Given the description of an element on the screen output the (x, y) to click on. 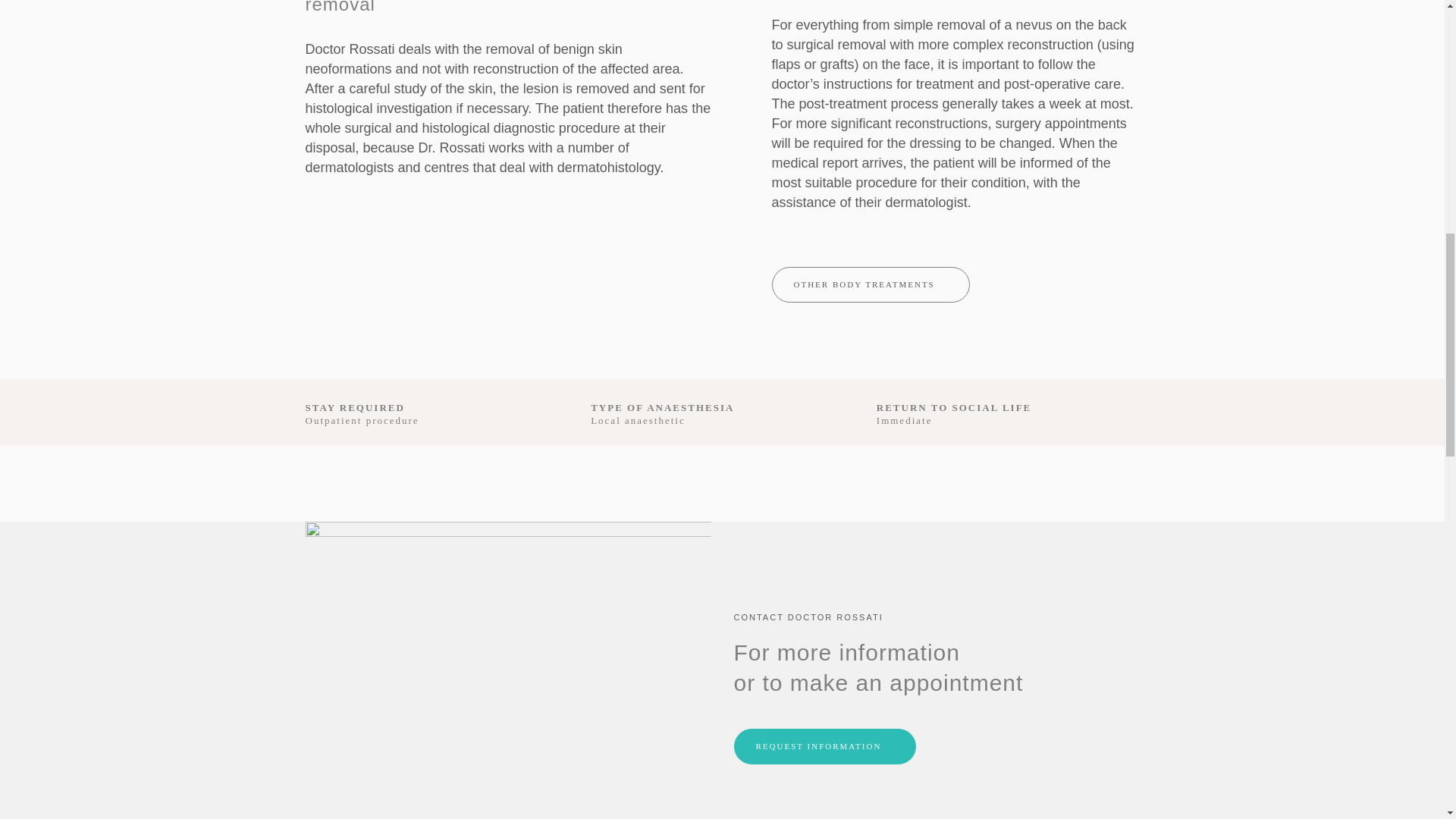
rossati-leonardo (507, 670)
